Given the description of an element on the screen output the (x, y) to click on. 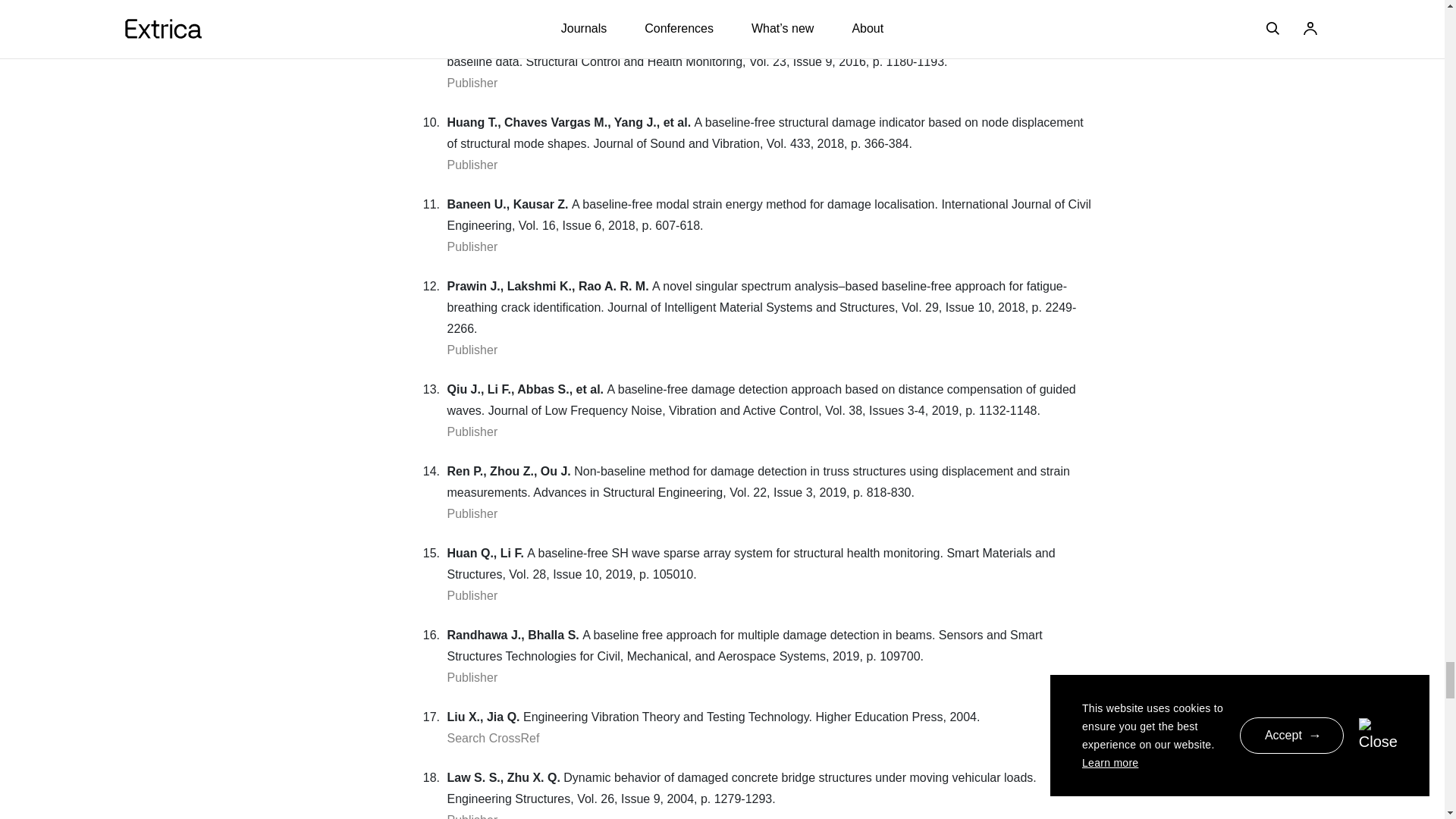
Publisher (471, 3)
Publisher (471, 82)
Publisher (471, 349)
Publisher (471, 431)
Publisher (471, 246)
Publisher (471, 164)
